Given the description of an element on the screen output the (x, y) to click on. 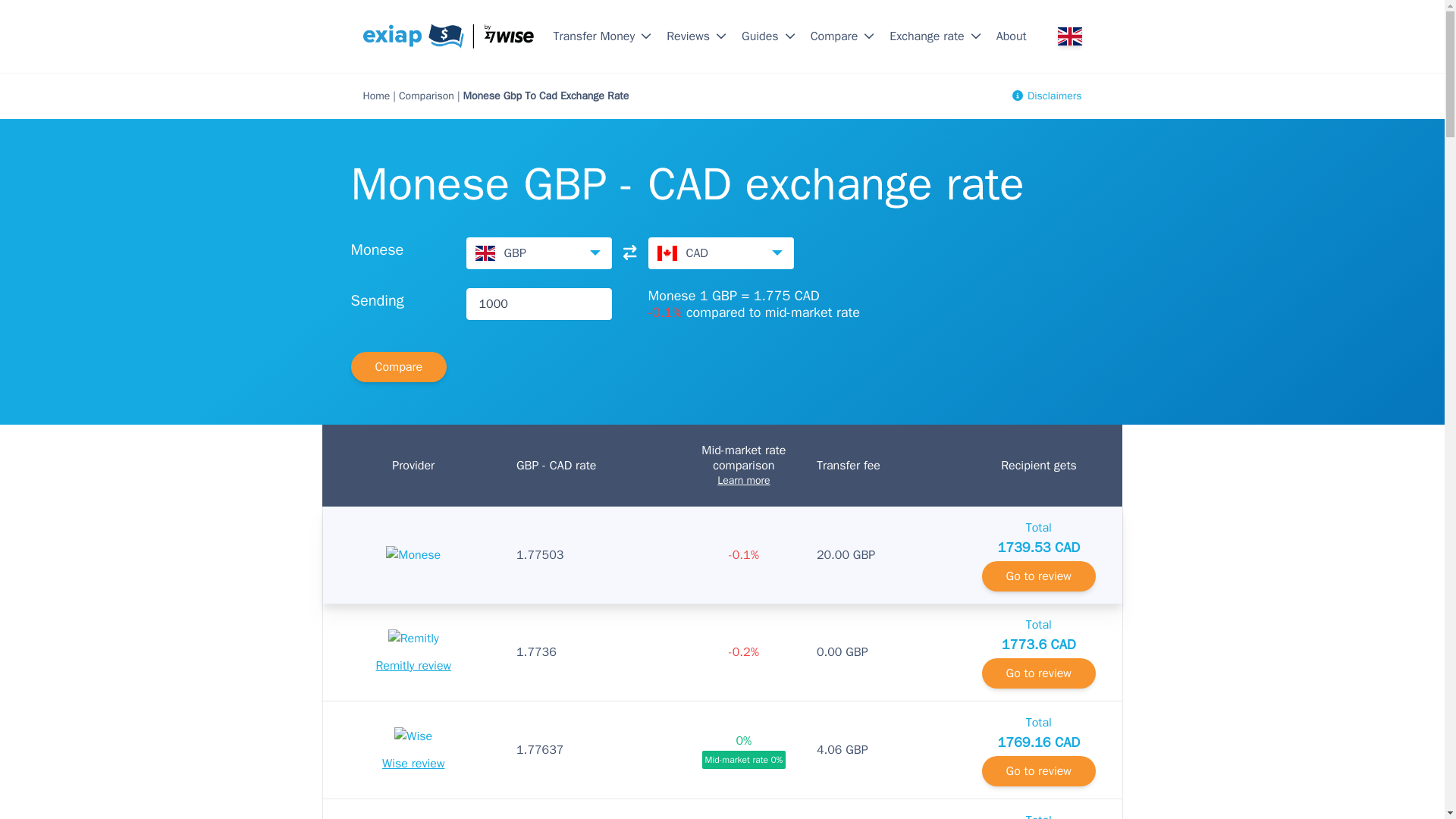
Transfer Money (594, 36)
Guides (759, 36)
Compare (834, 36)
Exiap (448, 36)
Reviews (688, 36)
1000 (538, 304)
